Given the description of an element on the screen output the (x, y) to click on. 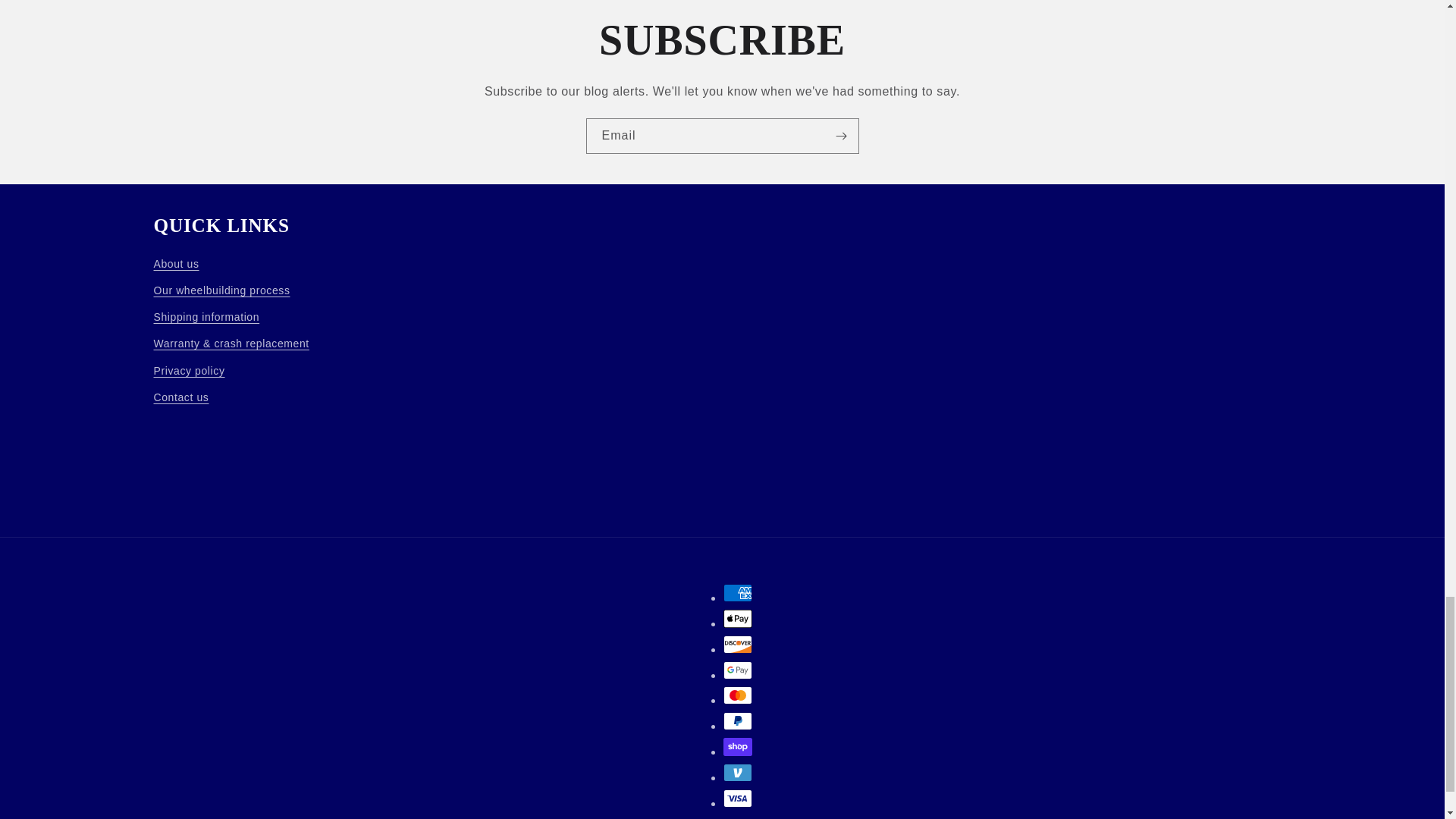
Privacy policy (188, 370)
Apple Pay (737, 618)
PayPal (737, 720)
Google Pay (737, 669)
Mastercard (737, 695)
Our wheelbuilding process (220, 290)
Contact us (180, 397)
Shipping information (205, 316)
Venmo (737, 772)
Discover (737, 644)
